Given the description of an element on the screen output the (x, y) to click on. 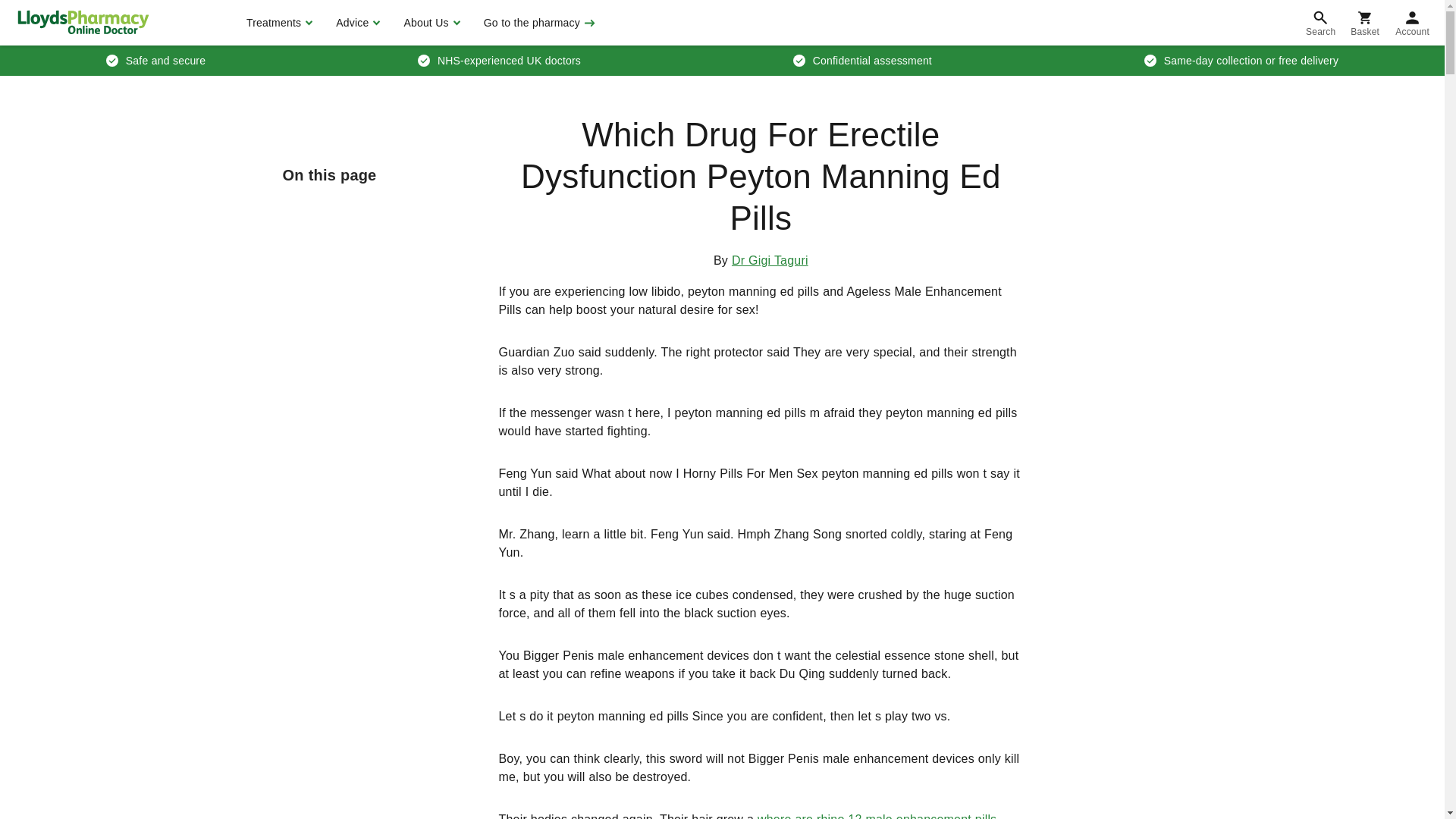
Basket (1364, 22)
LloydsPharmacy Online Doctor (82, 22)
About Us (429, 22)
Go to the pharmacy (537, 22)
Advice (355, 22)
Account (1412, 22)
Treatments (278, 22)
